Given the description of an element on the screen output the (x, y) to click on. 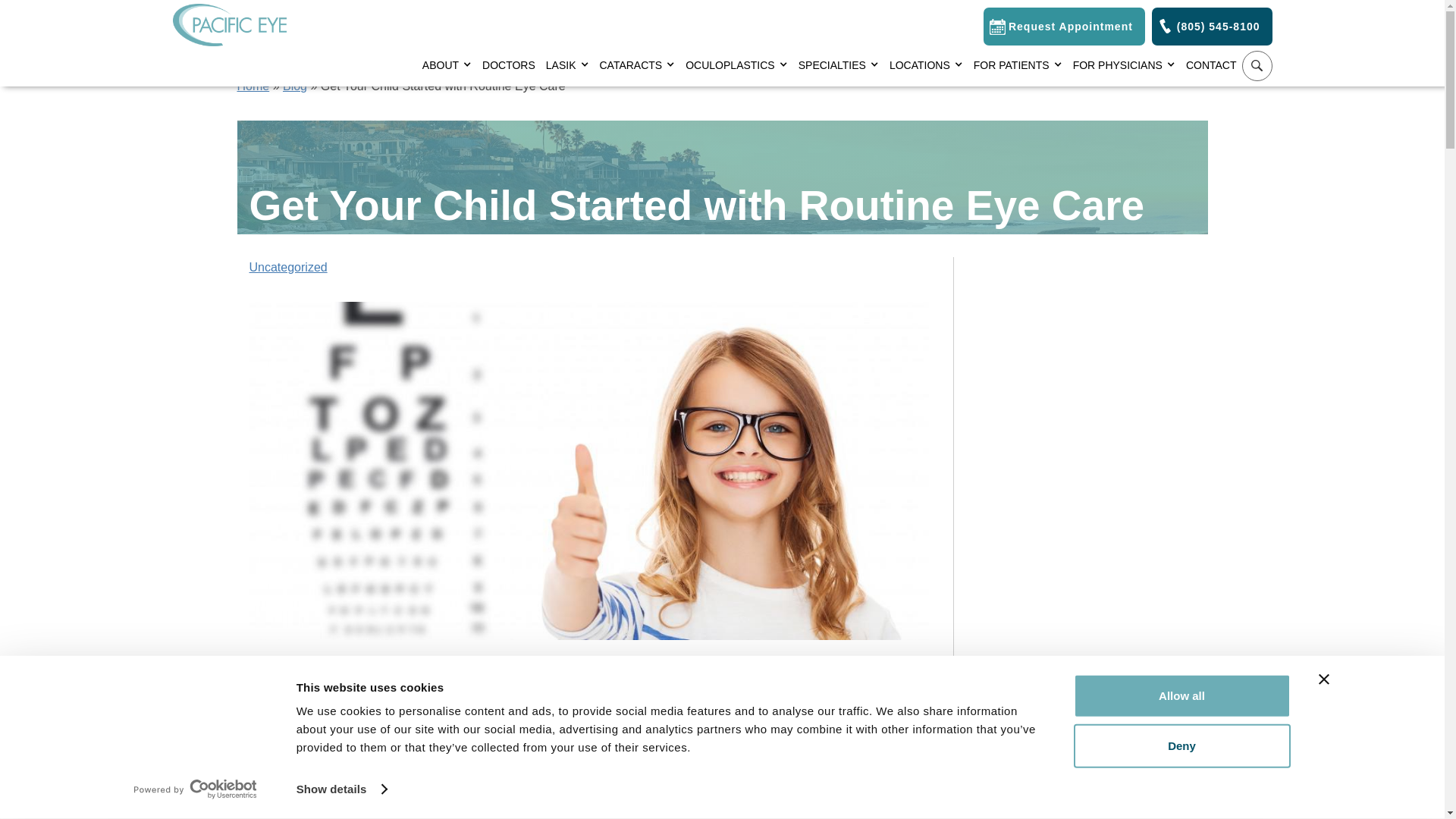
Show details (341, 789)
Pacific Eye - Click For the Homepage (229, 22)
